Given the description of an element on the screen output the (x, y) to click on. 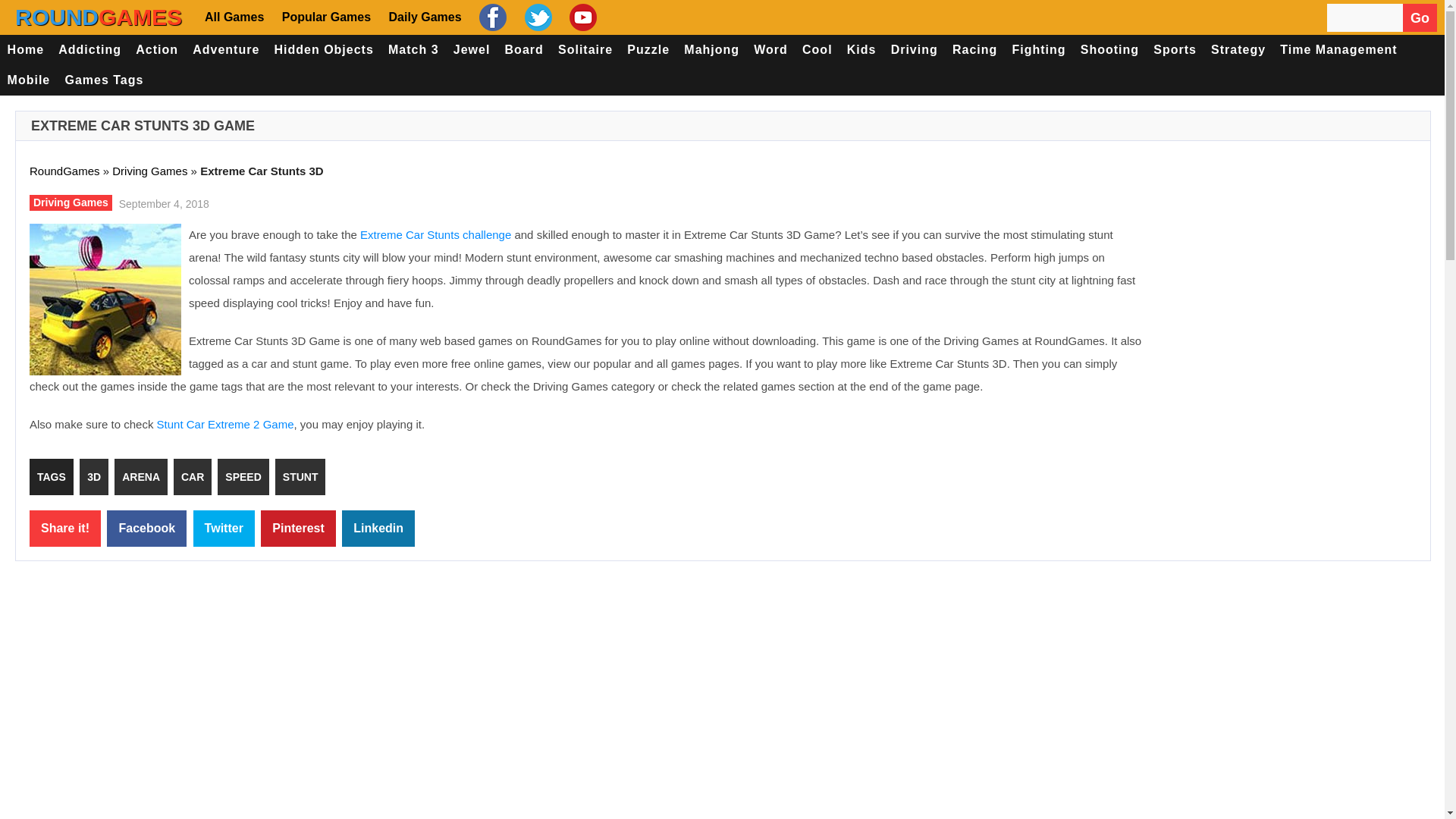
Hidden Objects (323, 50)
Match 3 (412, 50)
Popular Games (324, 16)
ROUNDGAMES (98, 17)
Advertisement (1288, 333)
8:32 pm (162, 202)
Daily Games (423, 16)
Our YouTube Channel (581, 17)
Adventure (226, 50)
